Given the description of an element on the screen output the (x, y) to click on. 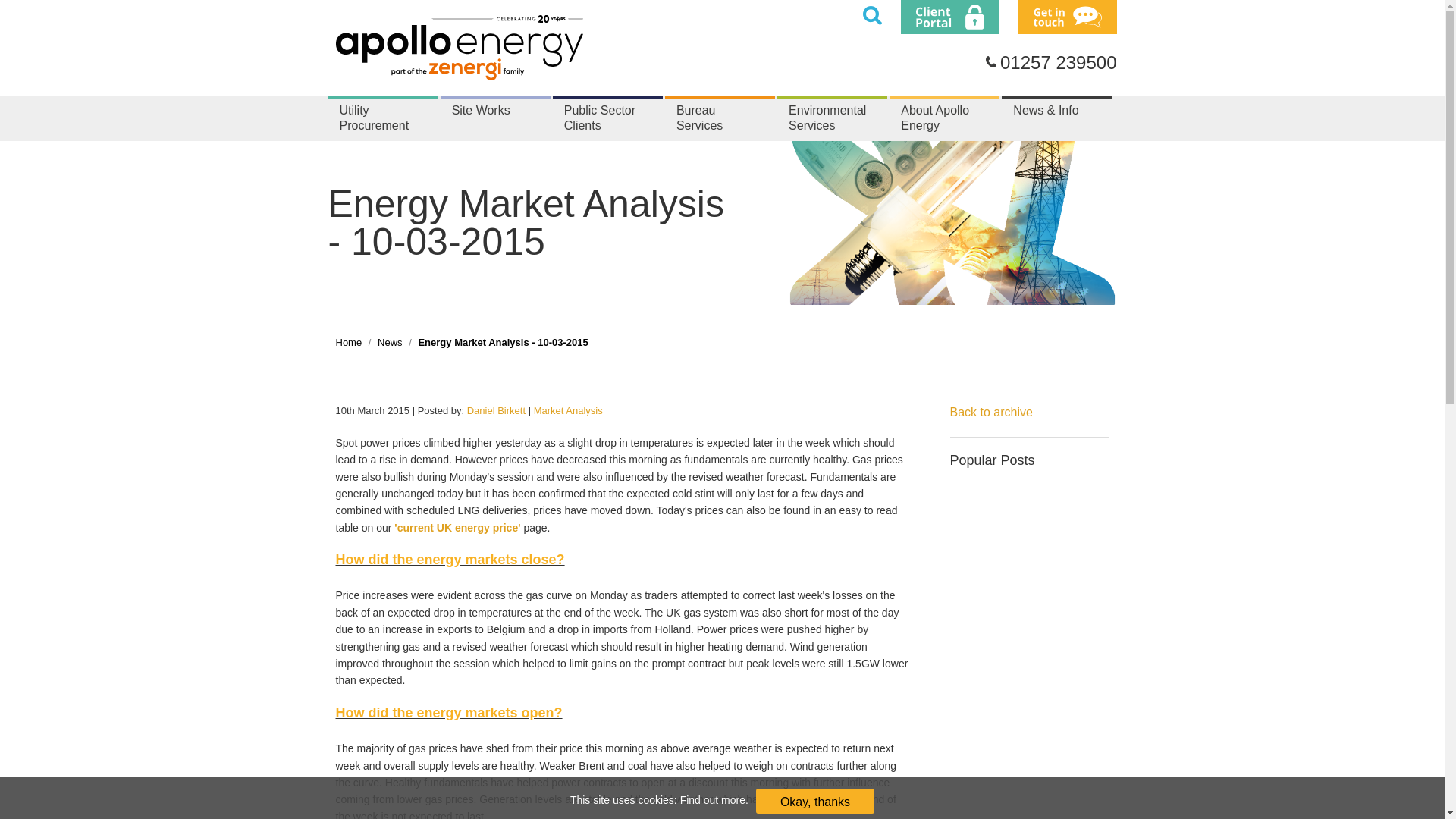
Site Works (495, 117)
Get in touch (1066, 17)
Public Sector Clients (607, 117)
Client Portal (949, 17)
Market Analysis (568, 410)
Search (872, 15)
Current UK Energy Prices (458, 527)
Cookie Policy (713, 799)
Bureau Services (719, 117)
Utility Procurement (382, 117)
